Given the description of an element on the screen output the (x, y) to click on. 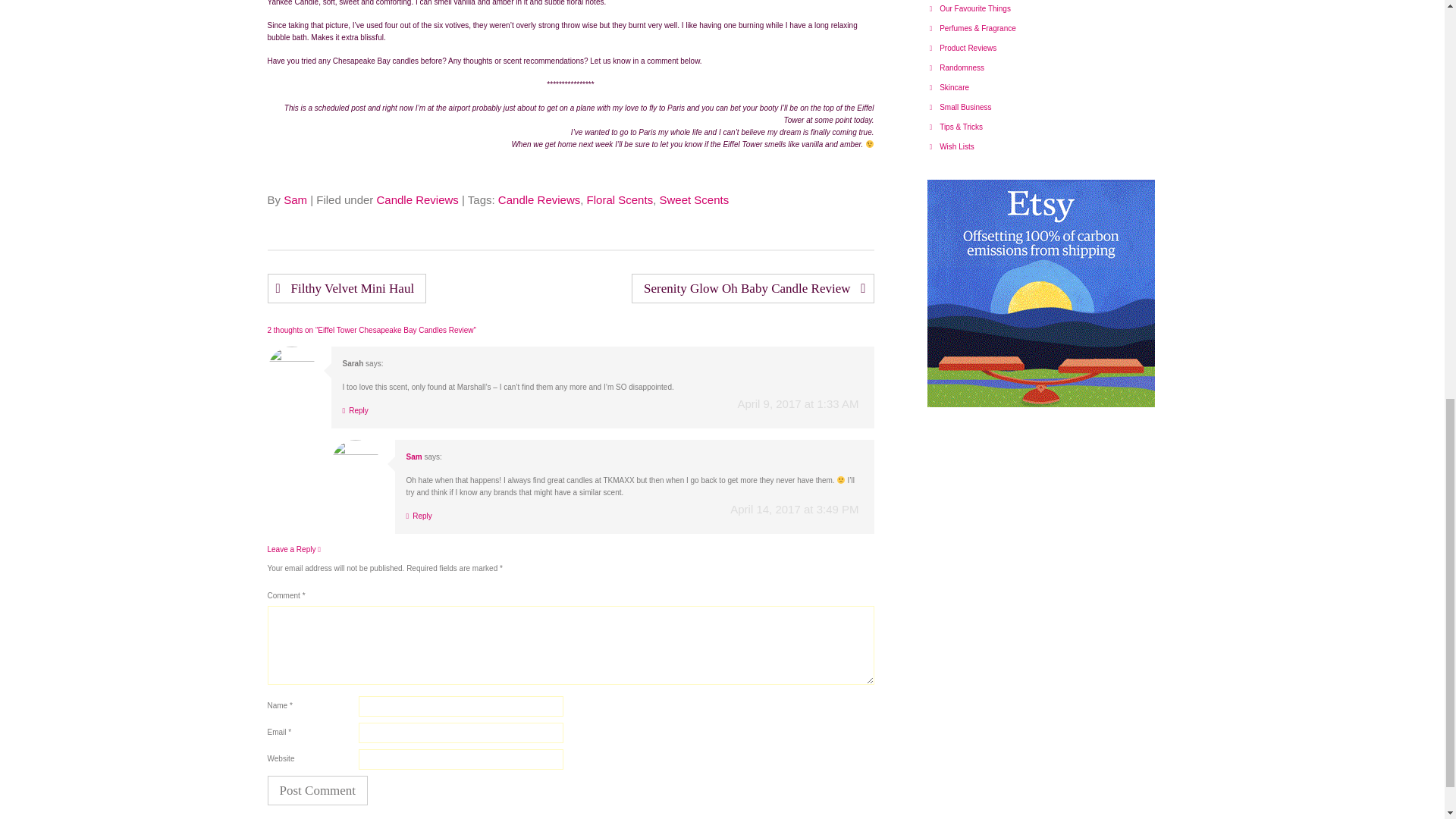
Reply (355, 410)
Post Comment (317, 790)
Filthy Velvet Mini Haul (346, 288)
Sam (414, 456)
Sam (295, 199)
Candle Reviews (538, 199)
Sweet Scents (694, 199)
Serenity Glow Oh Baby Candle Review (752, 288)
April 9, 2017 at 1:33 AM (797, 403)
Post Comment (317, 790)
April 14, 2017 at 3:49 PM (794, 508)
Reply (419, 515)
Candle Reviews (416, 199)
Floral Scents (619, 199)
